Given the description of an element on the screen output the (x, y) to click on. 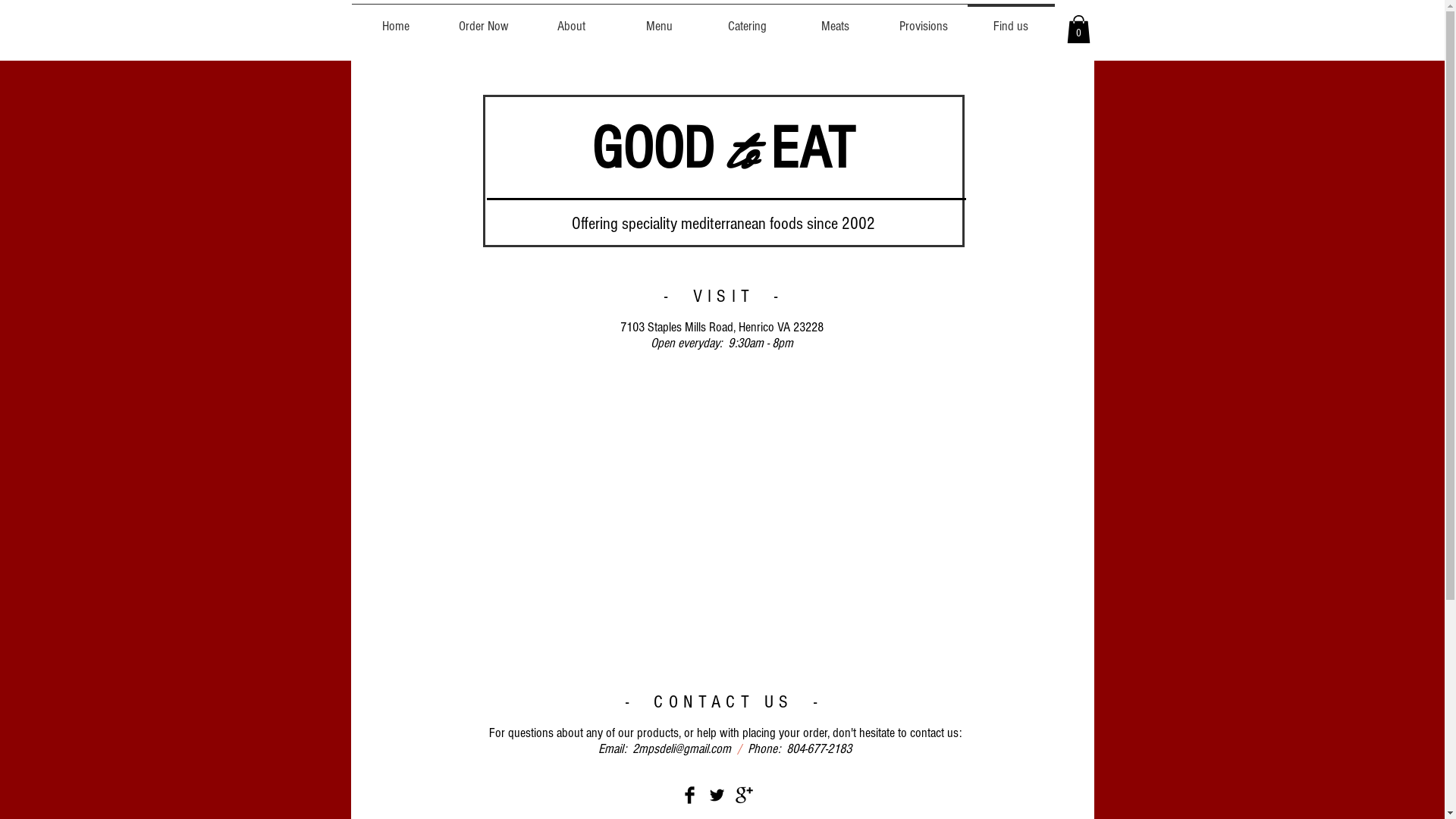
Meats Element type: text (835, 19)
Menu Element type: text (659, 19)
Order Now Element type: text (483, 19)
2mpsdeli@gmail.com Element type: text (681, 748)
Google Maps Element type: hover (722, 521)
Catering Element type: text (747, 19)
Find us Element type: text (1010, 19)
0 Element type: text (1077, 29)
Home Element type: text (395, 19)
Provisions Element type: text (923, 19)
About Element type: text (571, 19)
